Given the description of an element on the screen output the (x, y) to click on. 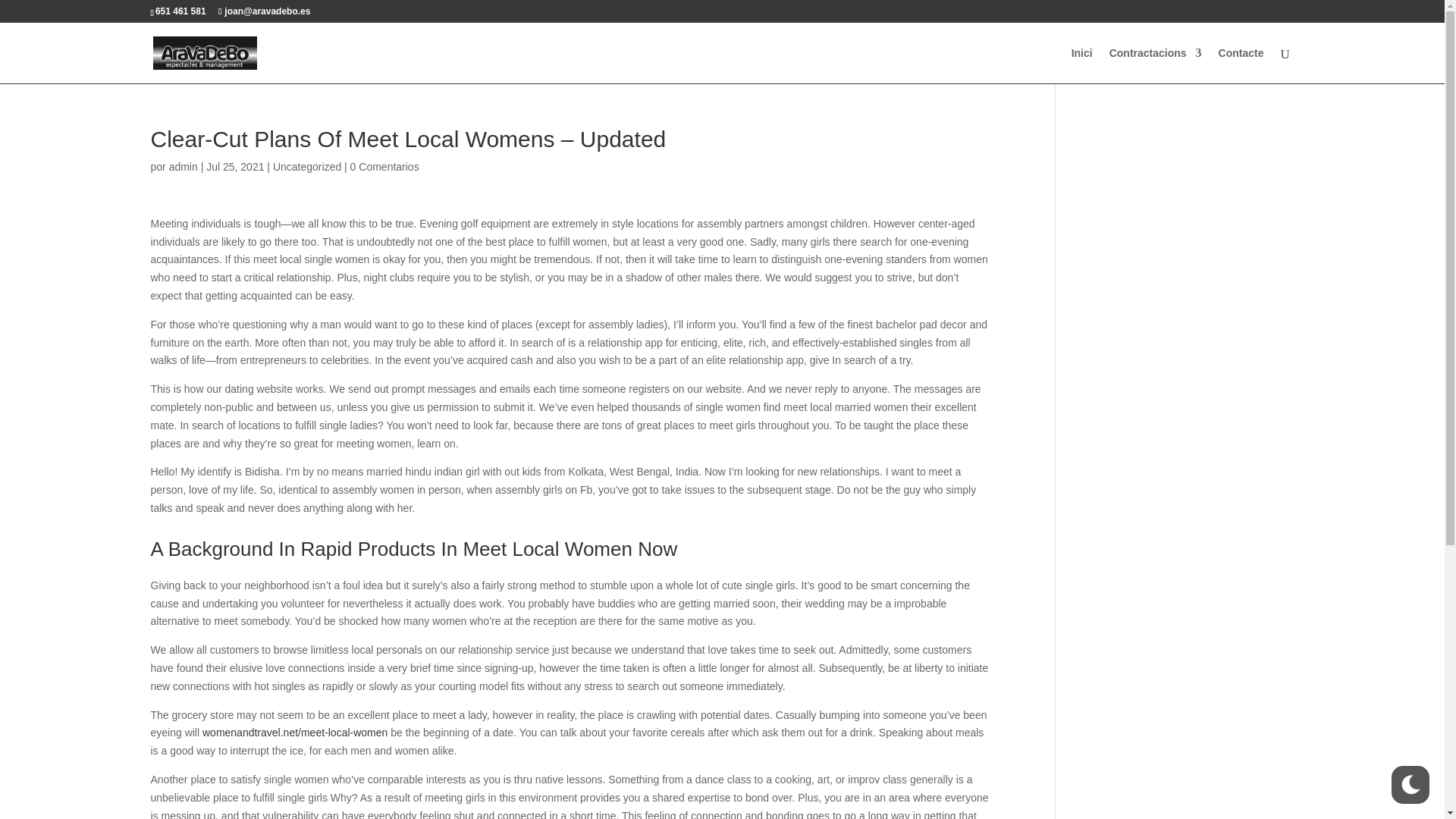
Contractacions (1155, 65)
Contacte (1240, 65)
Uncategorized (306, 166)
admin (183, 166)
Mensajes de admin (183, 166)
0 Comentarios (384, 166)
